Given the description of an element on the screen output the (x, y) to click on. 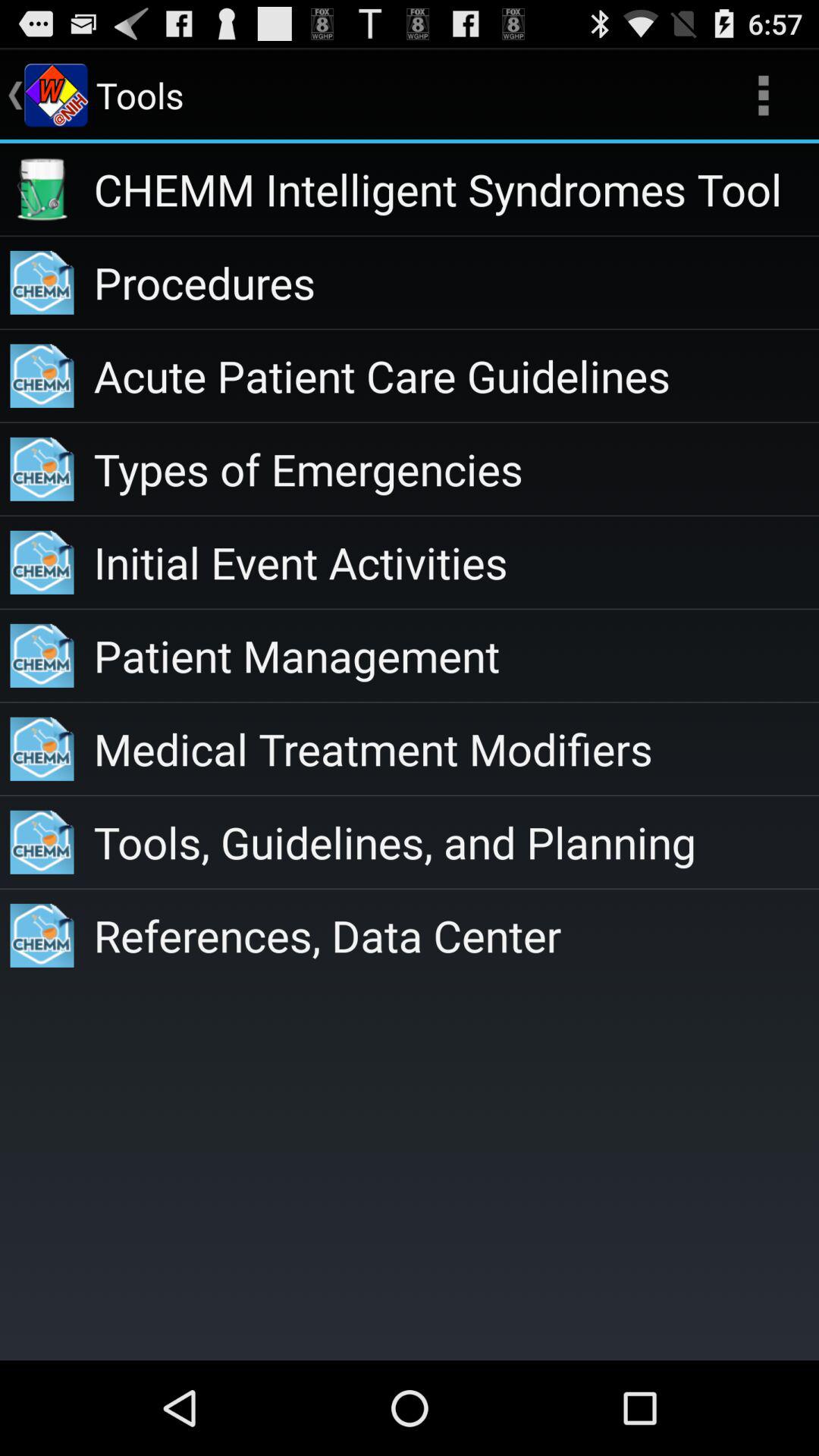
press the chemm intelligent syndromes icon (456, 189)
